Given the description of an element on the screen output the (x, y) to click on. 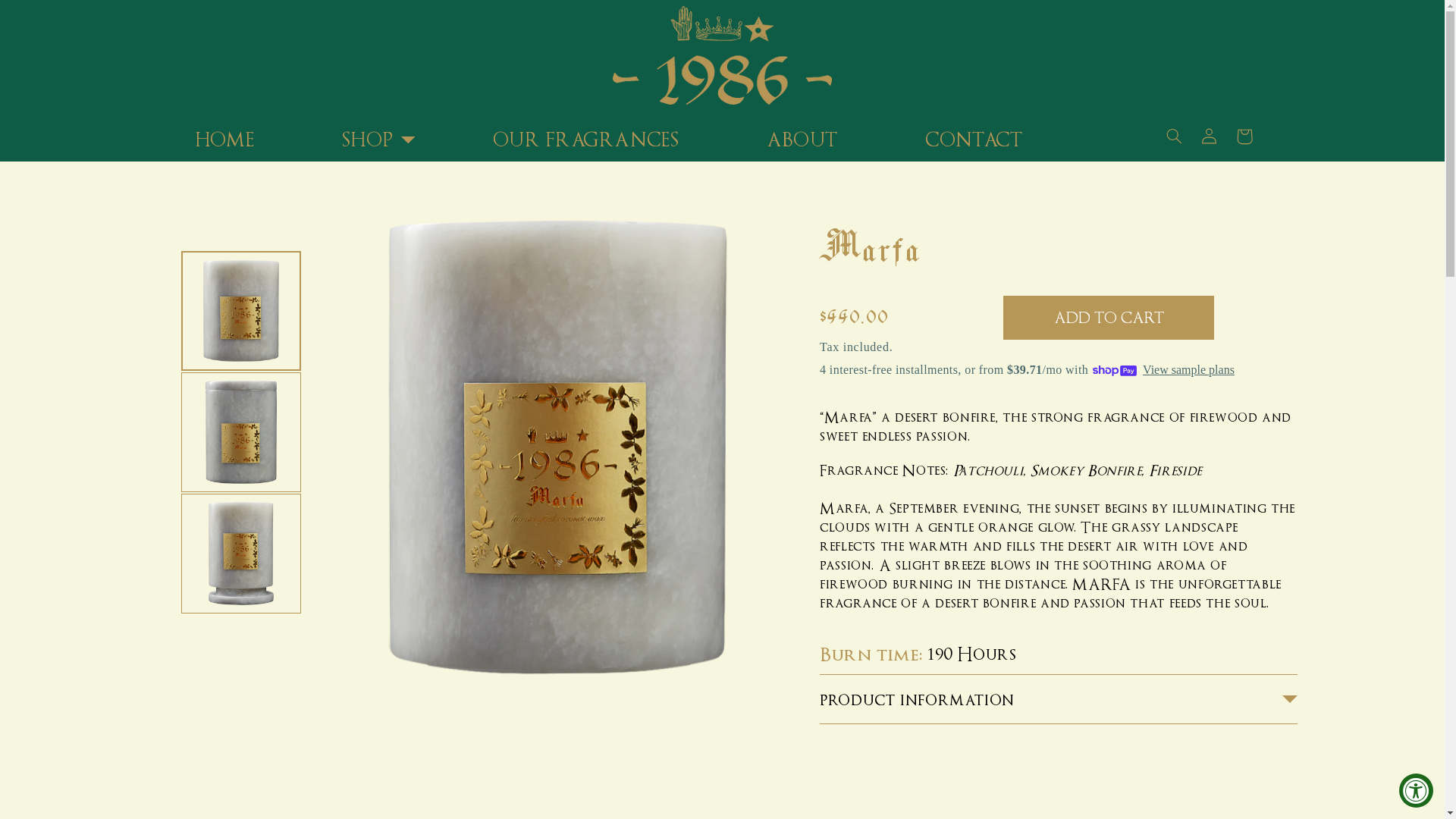
SKIP TO PRODUCT INFORMATION Element type: text (449, 279)
Previous Element type: text (240, 230)
ABOUT Element type: text (801, 140)
Cart Element type: text (1243, 136)
HOME Element type: text (224, 140)
Log in Element type: text (1209, 136)
OUR FRAGRANCES Element type: text (585, 140)
ADD TO CART Element type: text (1108, 317)
SKIP TO CONTENT Element type: text (113, 59)
CONTACT Element type: text (974, 140)
Next Element type: text (240, 632)
